Given the description of an element on the screen output the (x, y) to click on. 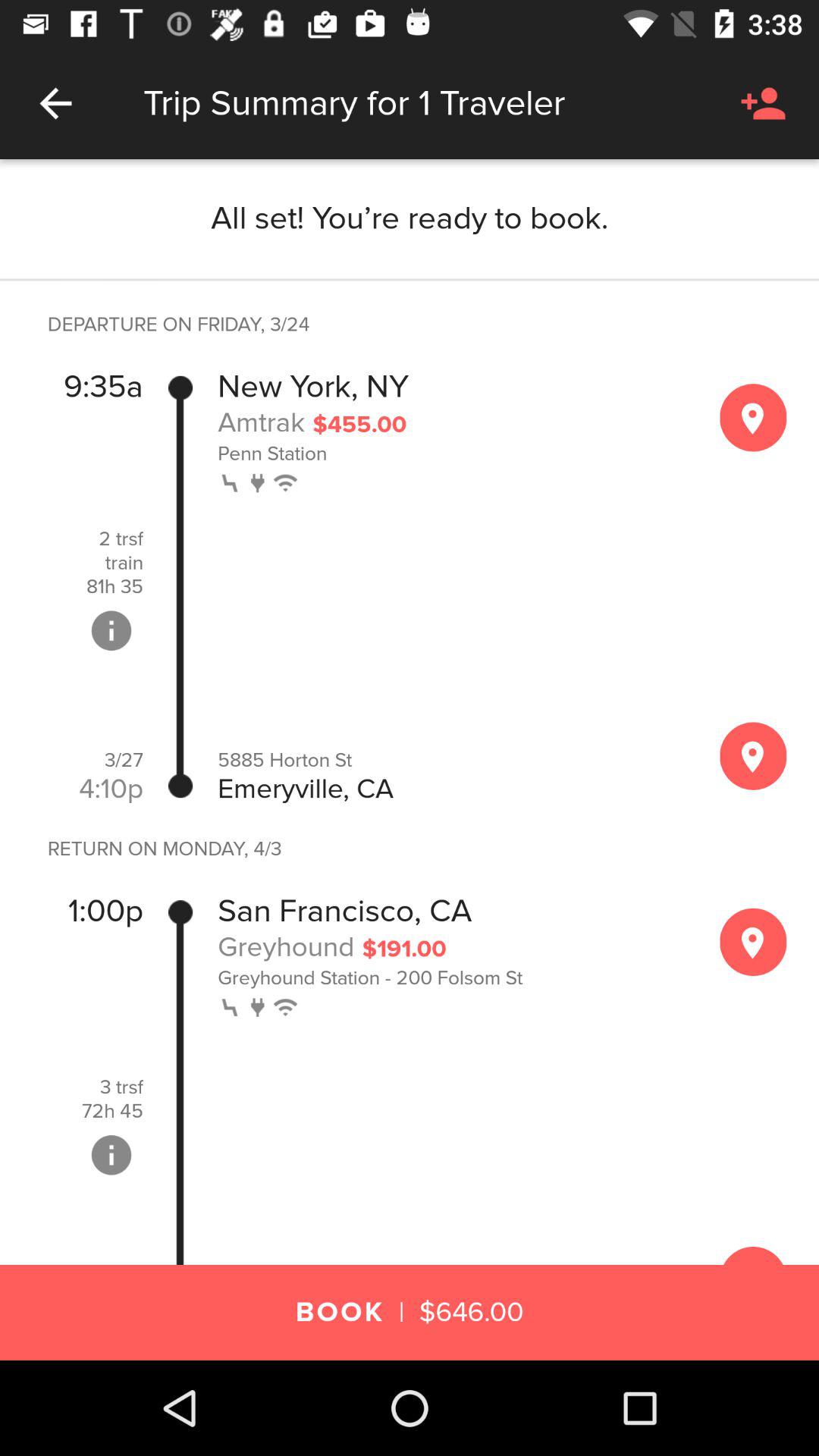
turn on the item above 72h 45 (121, 1087)
